Given the description of an element on the screen output the (x, y) to click on. 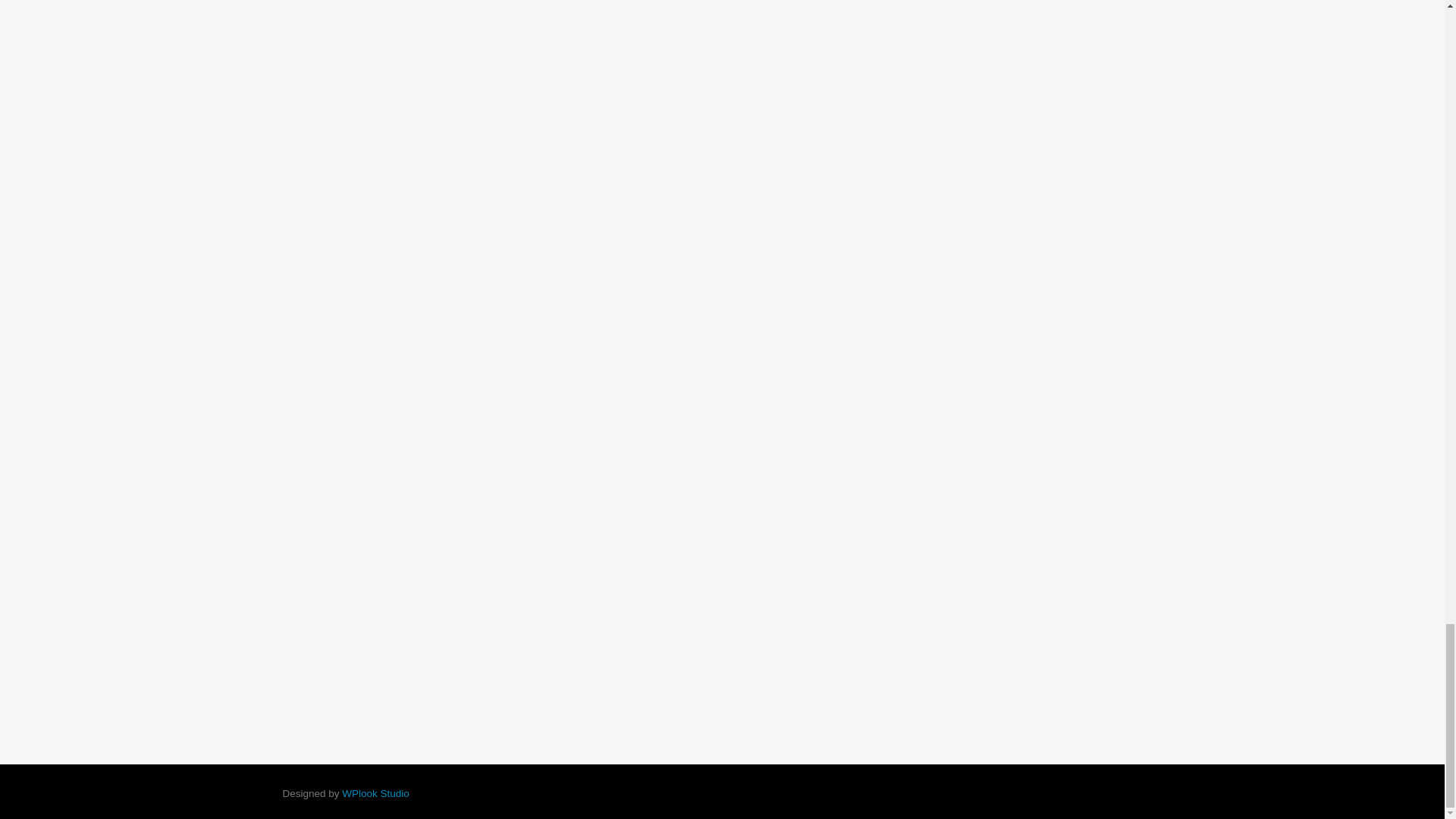
morning (375, 793)
